Given the description of an element on the screen output the (x, y) to click on. 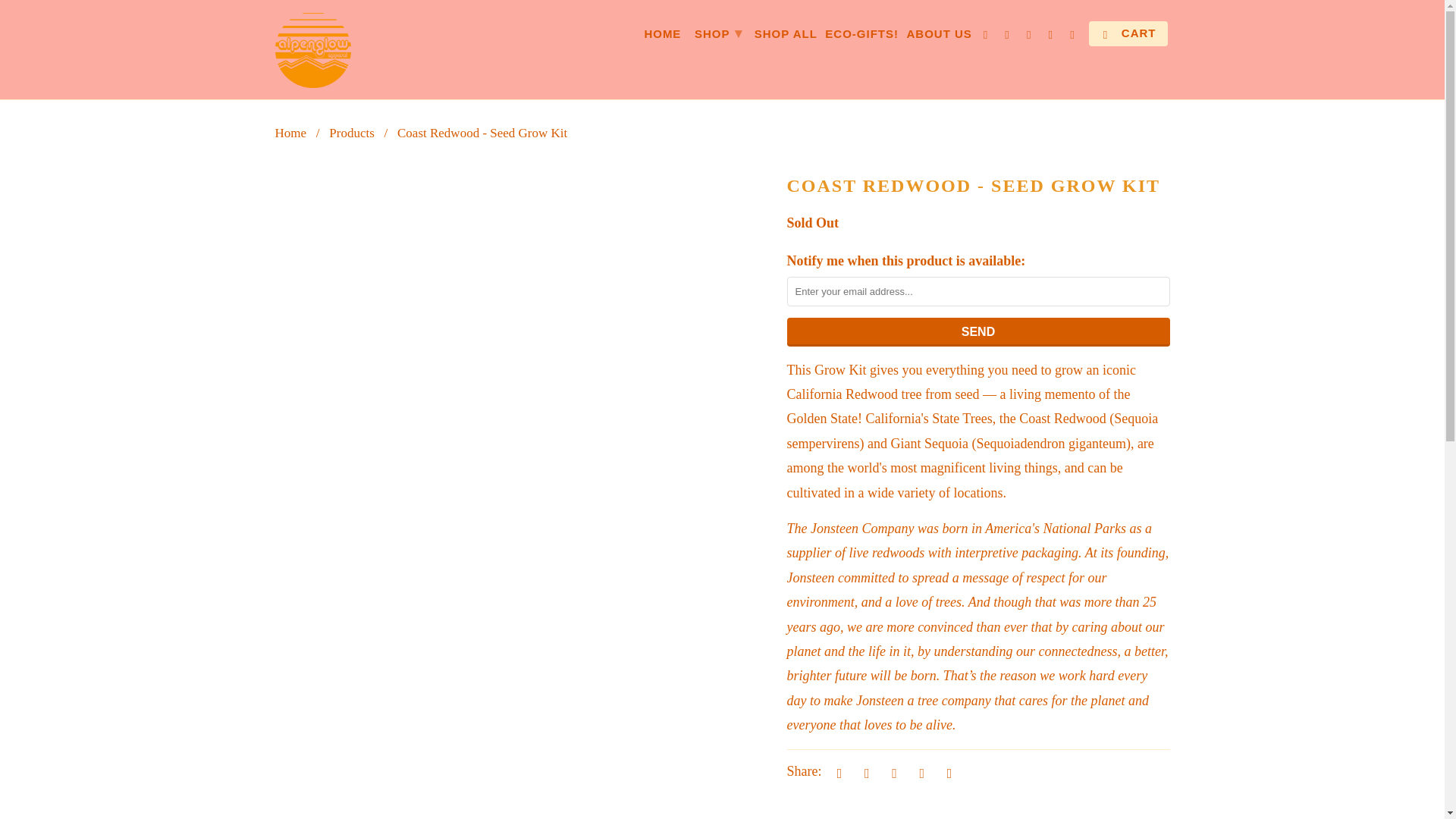
Send (978, 331)
Products (351, 133)
Home (290, 133)
Share this on Twitter (836, 772)
Share this on Facebook (863, 772)
HOME (662, 36)
Products (351, 133)
alpenglow apparel (290, 133)
SHOP ALL (785, 36)
ABOUT US (938, 36)
